Given the description of an element on the screen output the (x, y) to click on. 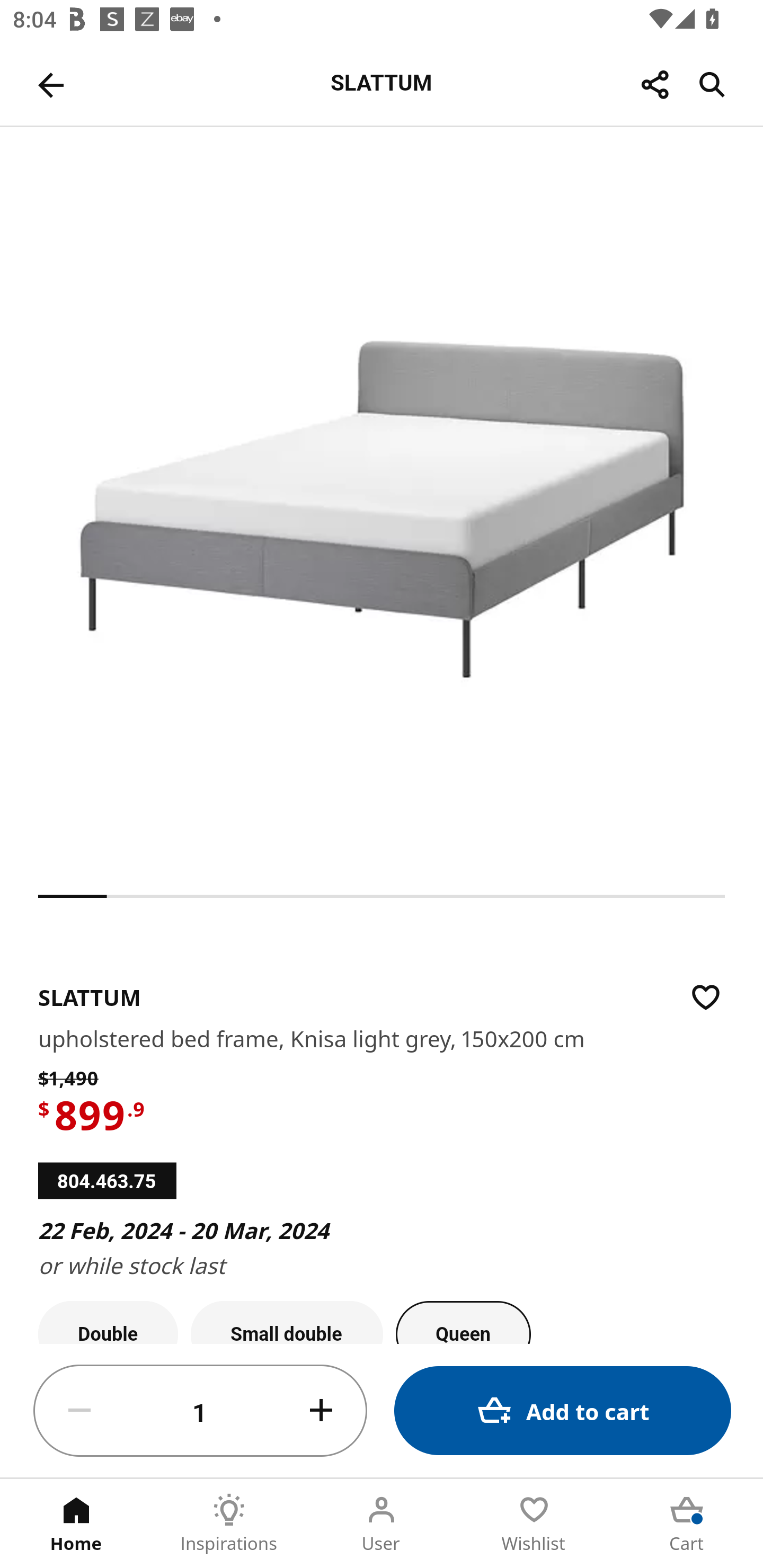
Double (107, 1322)
Small double (286, 1322)
Queen (463, 1322)
Add to cart (562, 1410)
1 (200, 1411)
Home
Tab 1 of 5 (76, 1522)
Inspirations
Tab 2 of 5 (228, 1522)
User
Tab 3 of 5 (381, 1522)
Wishlist
Tab 4 of 5 (533, 1522)
Cart
Tab 5 of 5 (686, 1522)
